Given the description of an element on the screen output the (x, y) to click on. 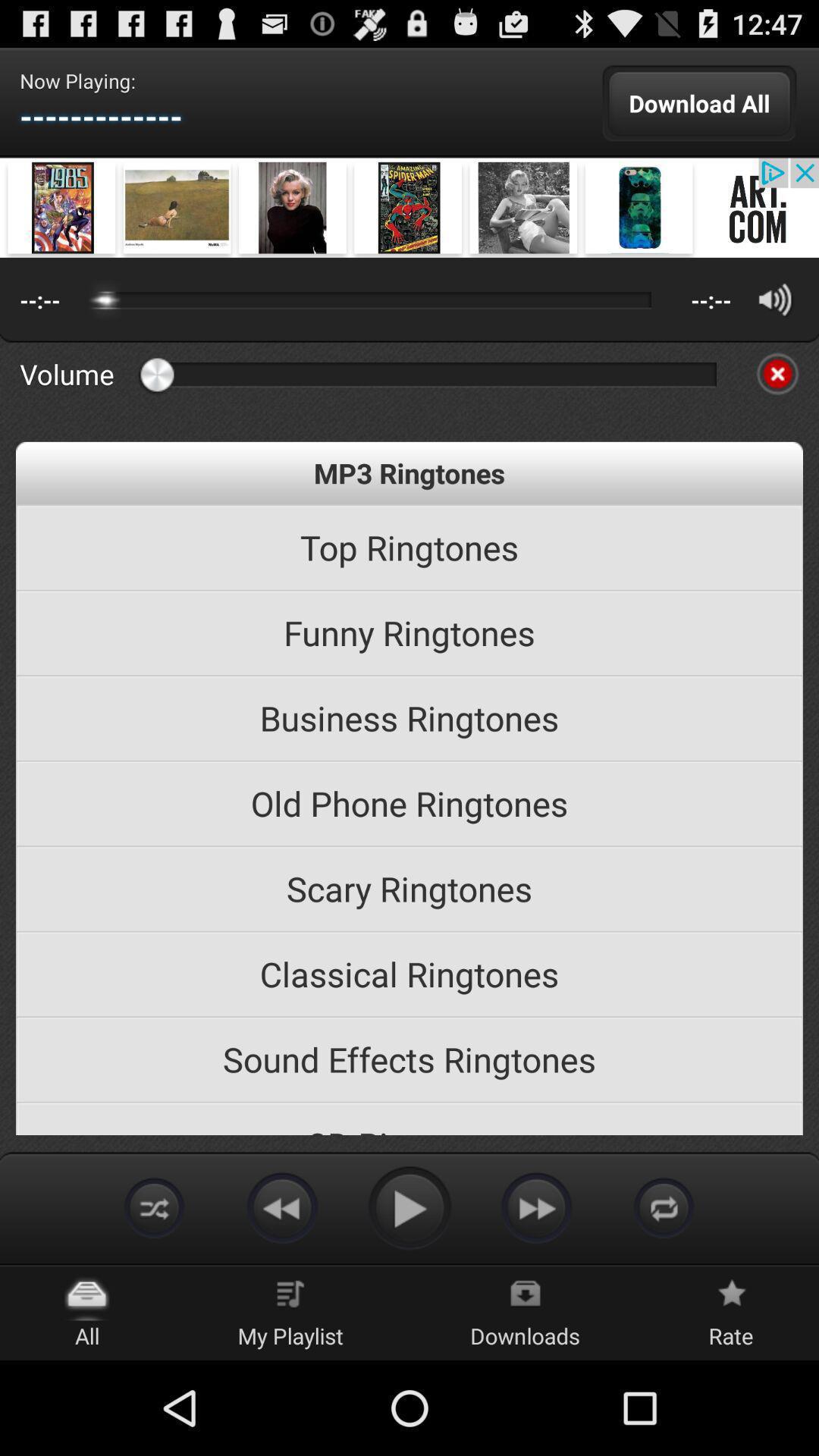
close (777, 373)
